Given the description of an element on the screen output the (x, y) to click on. 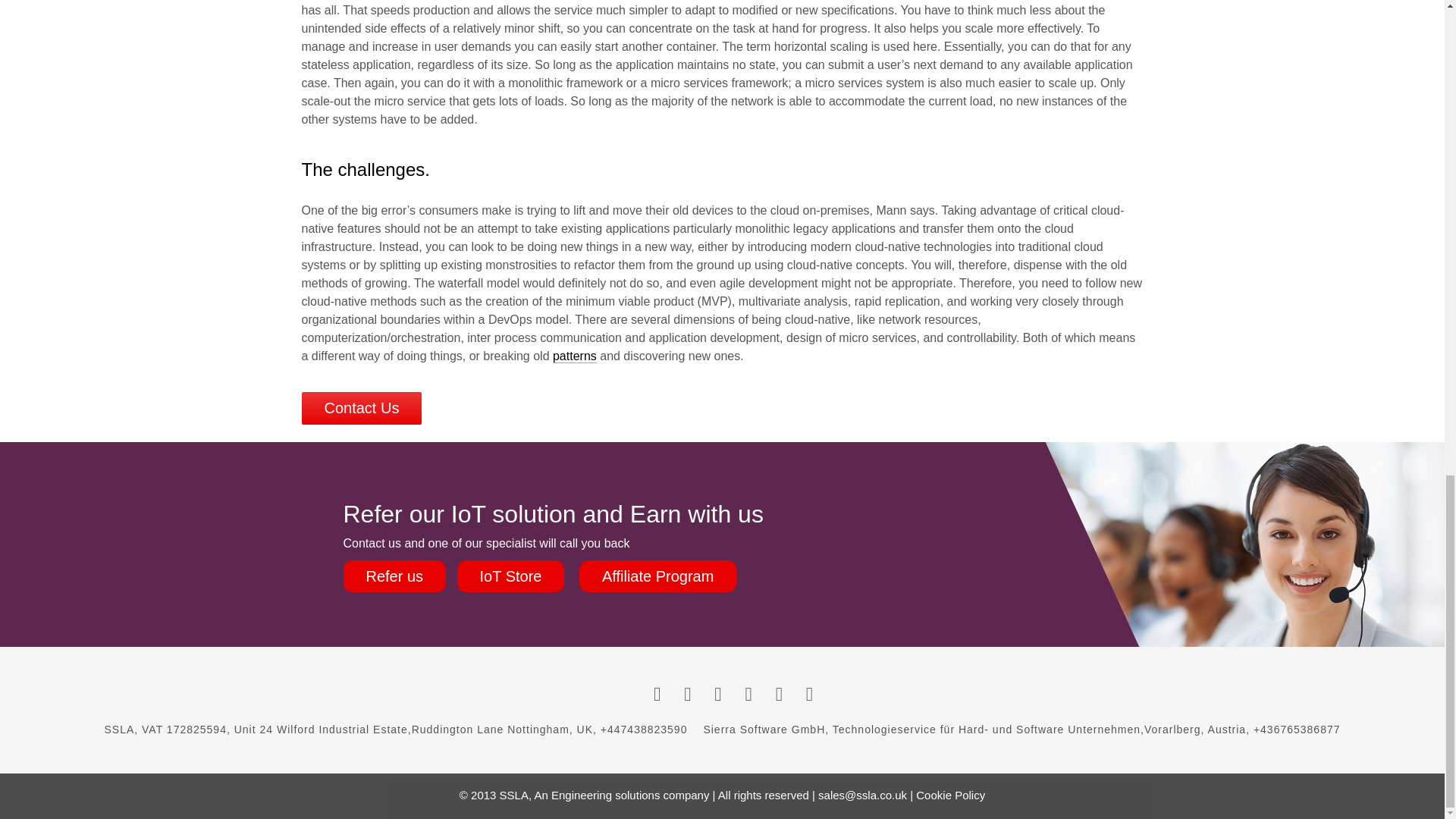
Refer us (393, 576)
IoT Store (510, 576)
Contact Us (361, 408)
Affiliate Program (657, 576)
patterns (574, 356)
Cookie Policy (950, 794)
